Given the description of an element on the screen output the (x, y) to click on. 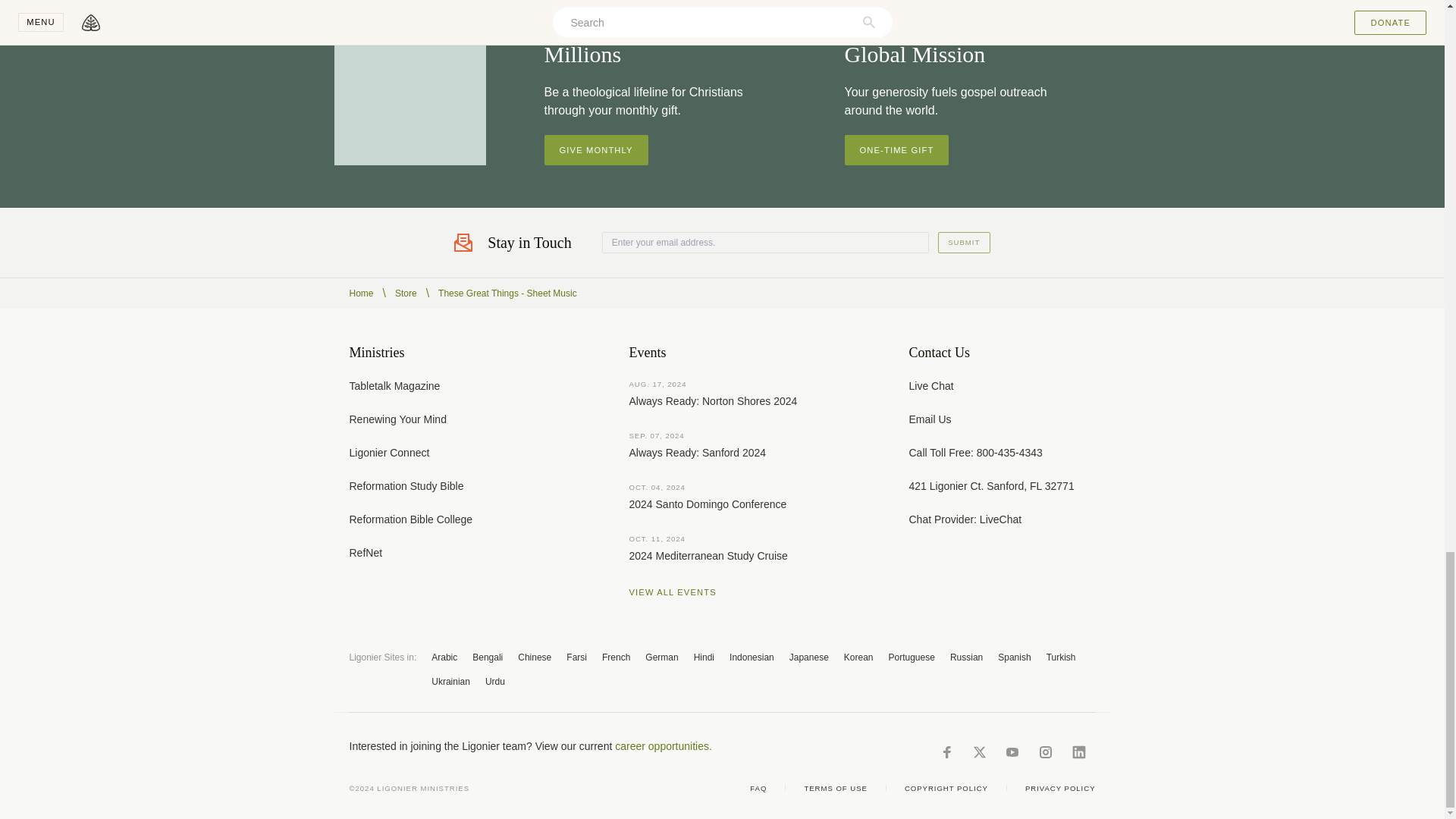
Give Monthly (595, 150)
YouTube (1011, 752)
Instagram (1044, 752)
One-Time Gift (896, 150)
Facebook (946, 752)
X (978, 752)
linkedin (1078, 752)
